Given the description of an element on the screen output the (x, y) to click on. 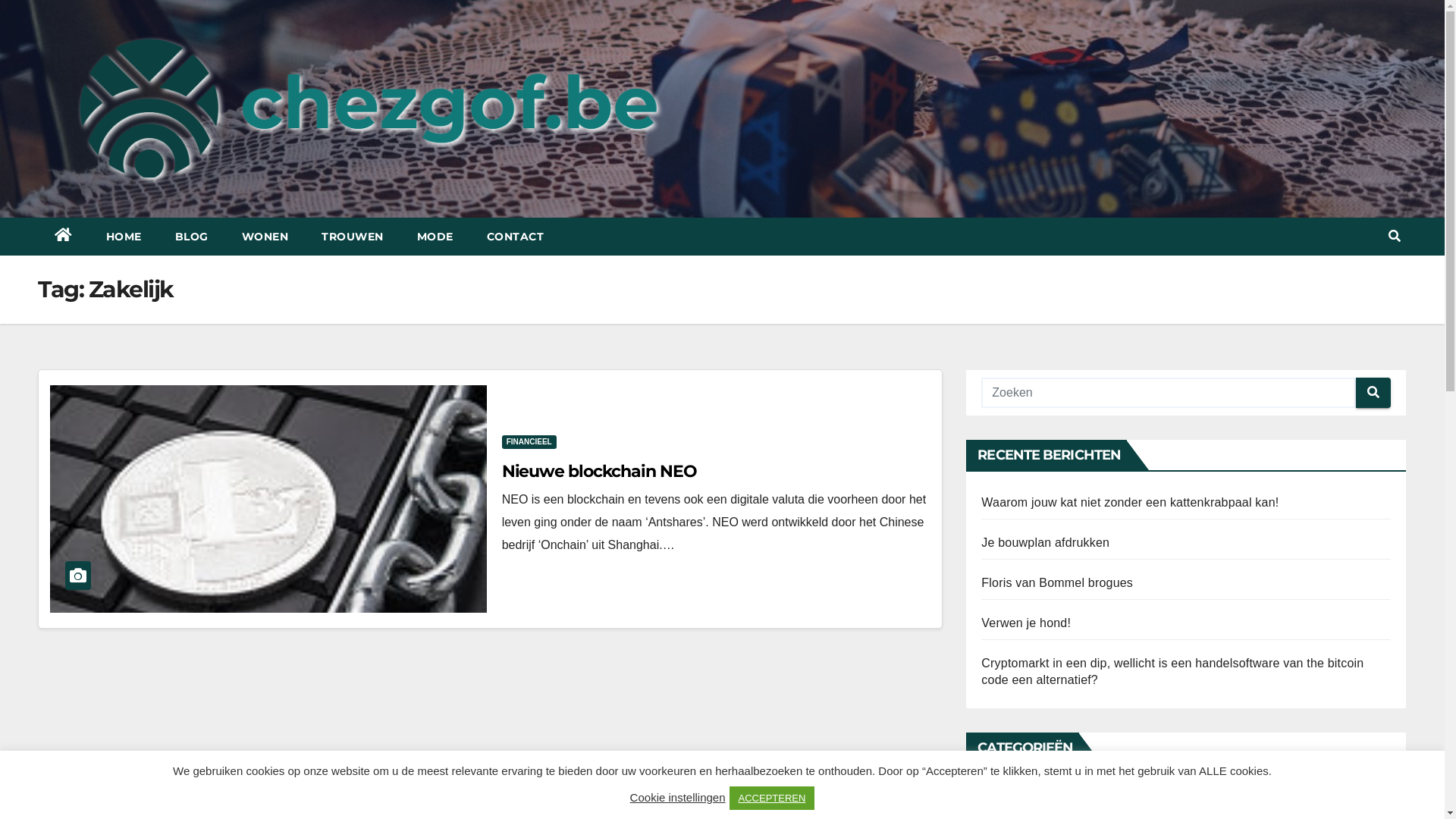
Waarom jouw kat niet zonder een kattenkrabpaal kan! Element type: text (1129, 501)
BLOG Element type: text (190, 236)
HOME Element type: text (123, 236)
Financieel Element type: text (1009, 794)
Cookie instellingen Element type: text (677, 796)
Floris van Bommel brogues Element type: text (1056, 582)
CONTACT Element type: text (515, 236)
WONEN Element type: text (264, 236)
TROUWEN Element type: text (352, 236)
Verwen je hond! Element type: text (1025, 622)
MODE Element type: text (435, 236)
ACCEPTEREN Element type: text (772, 797)
FINANCIEEL Element type: text (529, 441)
Je bouwplan afdrukken Element type: text (1045, 542)
Nieuwe blockchain NEO Element type: text (599, 471)
